Given the description of an element on the screen output the (x, y) to click on. 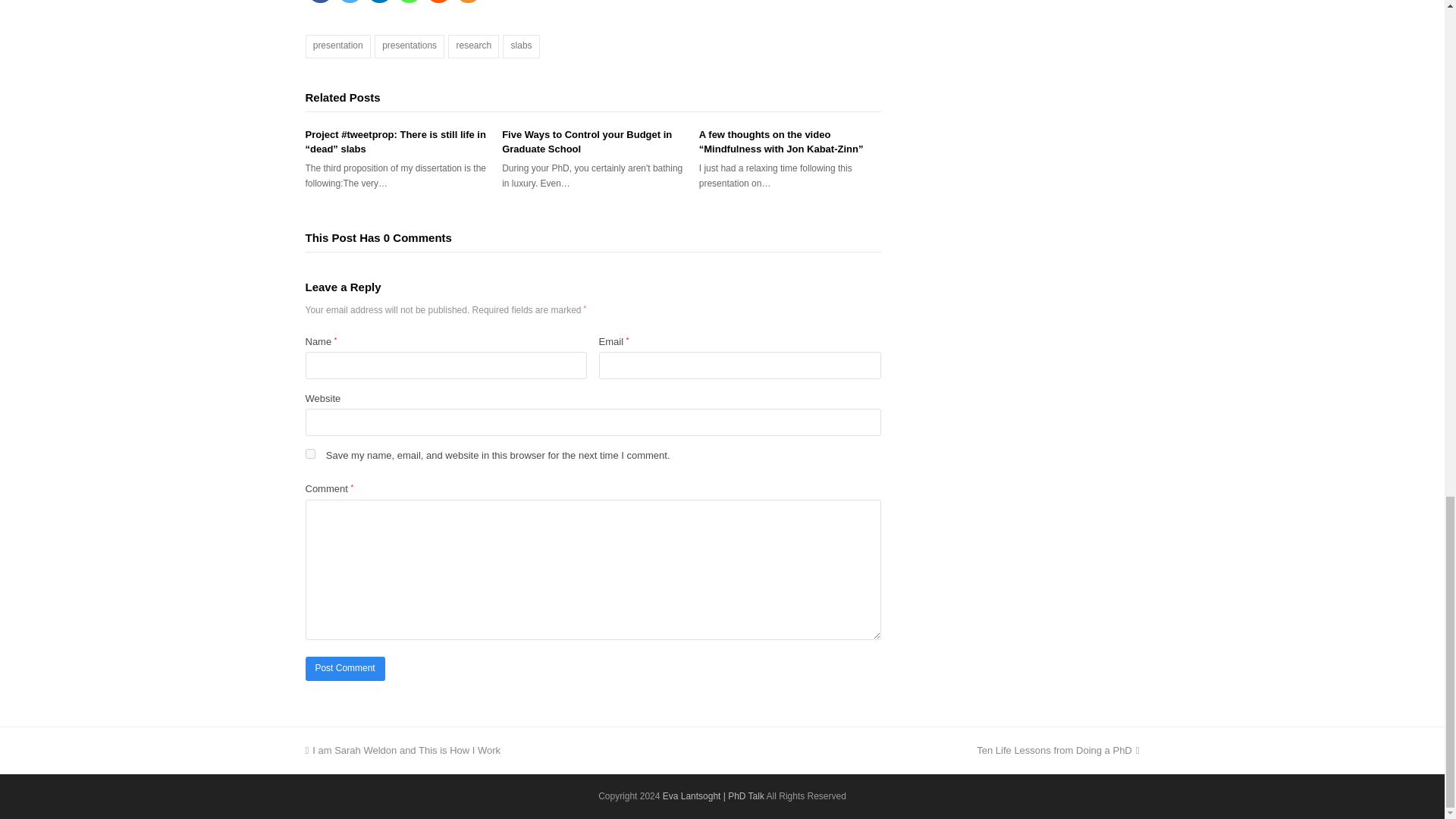
Linkedin (378, 1)
Facebook (319, 1)
Reddit (438, 1)
Post Comment (344, 668)
Twitter (349, 1)
yes (309, 453)
More (467, 1)
Whatsapp (409, 1)
